Given the description of an element on the screen output the (x, y) to click on. 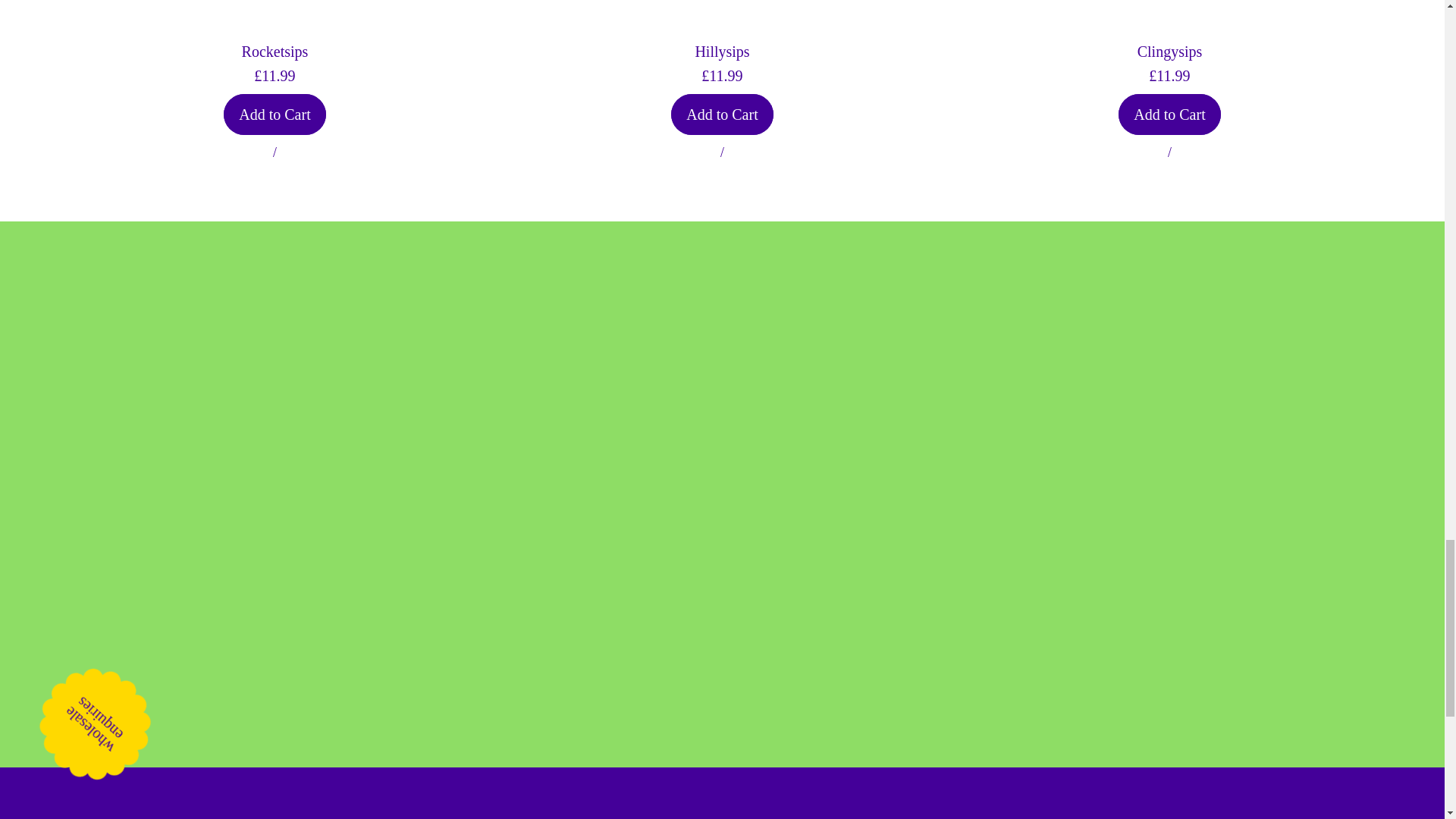
Rocketsips (722, 114)
Clingysips (274, 114)
Hillysips (1169, 114)
